Given the description of an element on the screen output the (x, y) to click on. 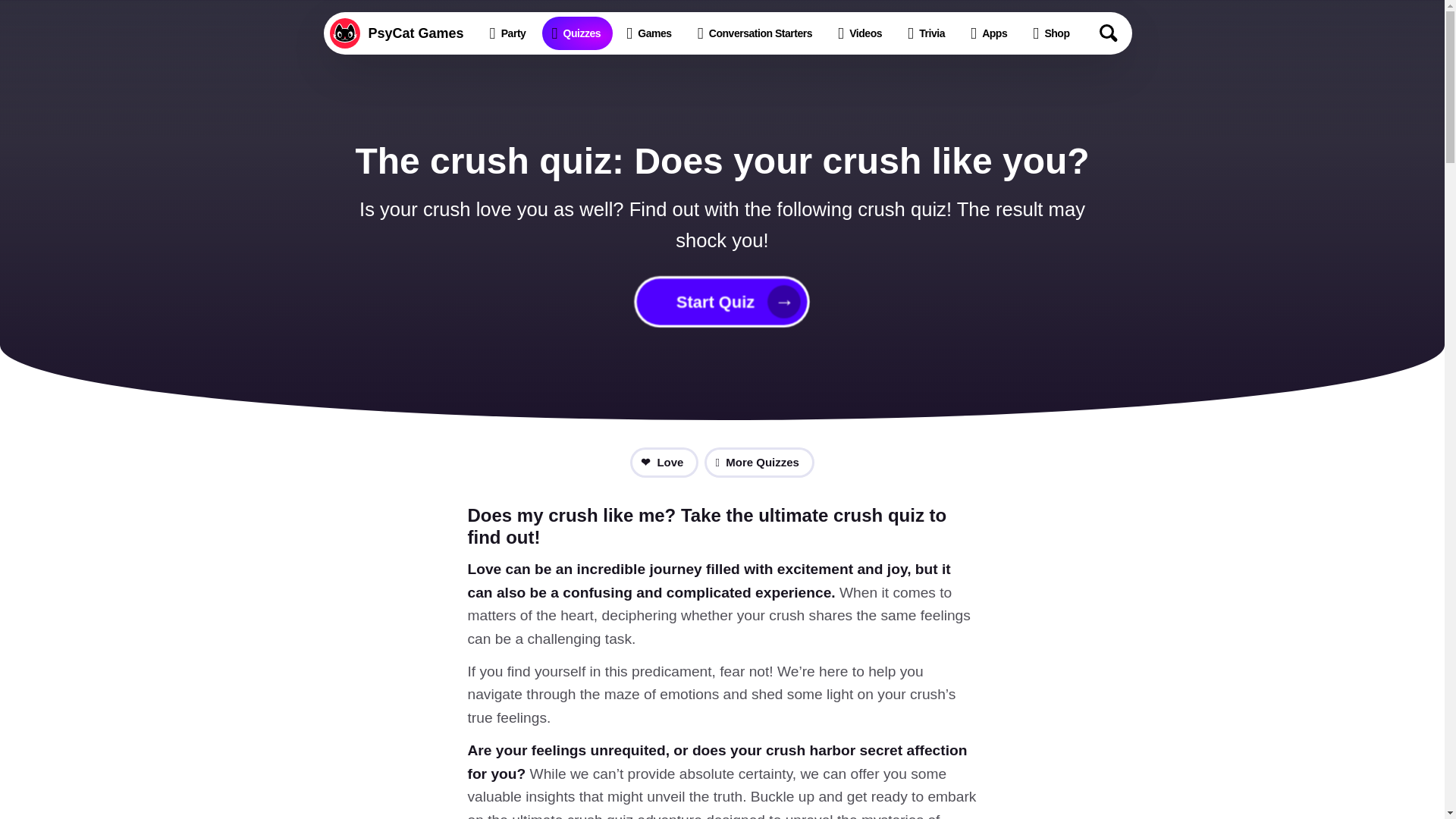
PsyCat Games (399, 33)
